Given the description of an element on the screen output the (x, y) to click on. 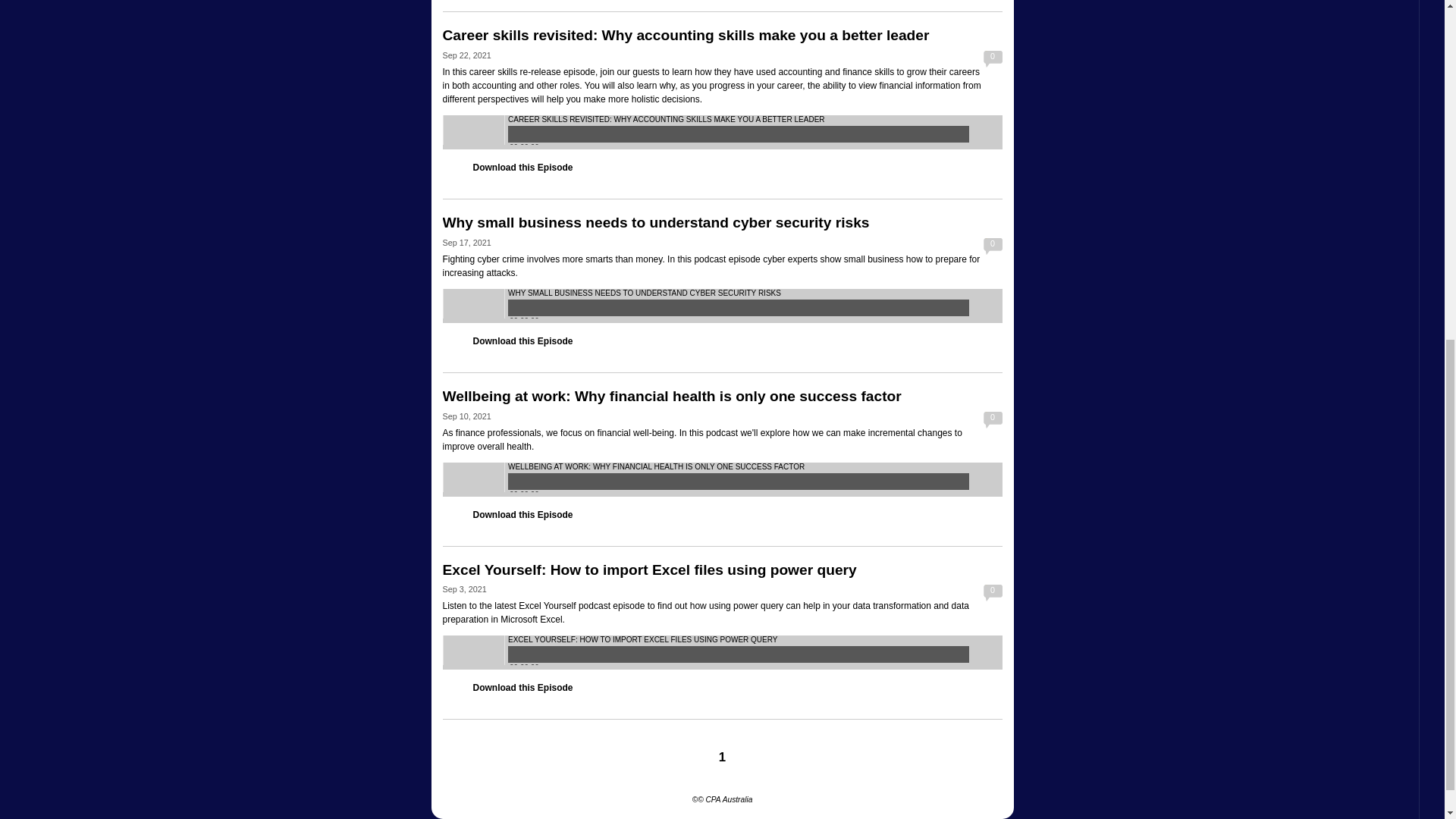
Libsyn Player (722, 652)
Libsyn Player (722, 132)
Libsyn Player (722, 305)
Libsyn Player (722, 479)
